Given the description of an element on the screen output the (x, y) to click on. 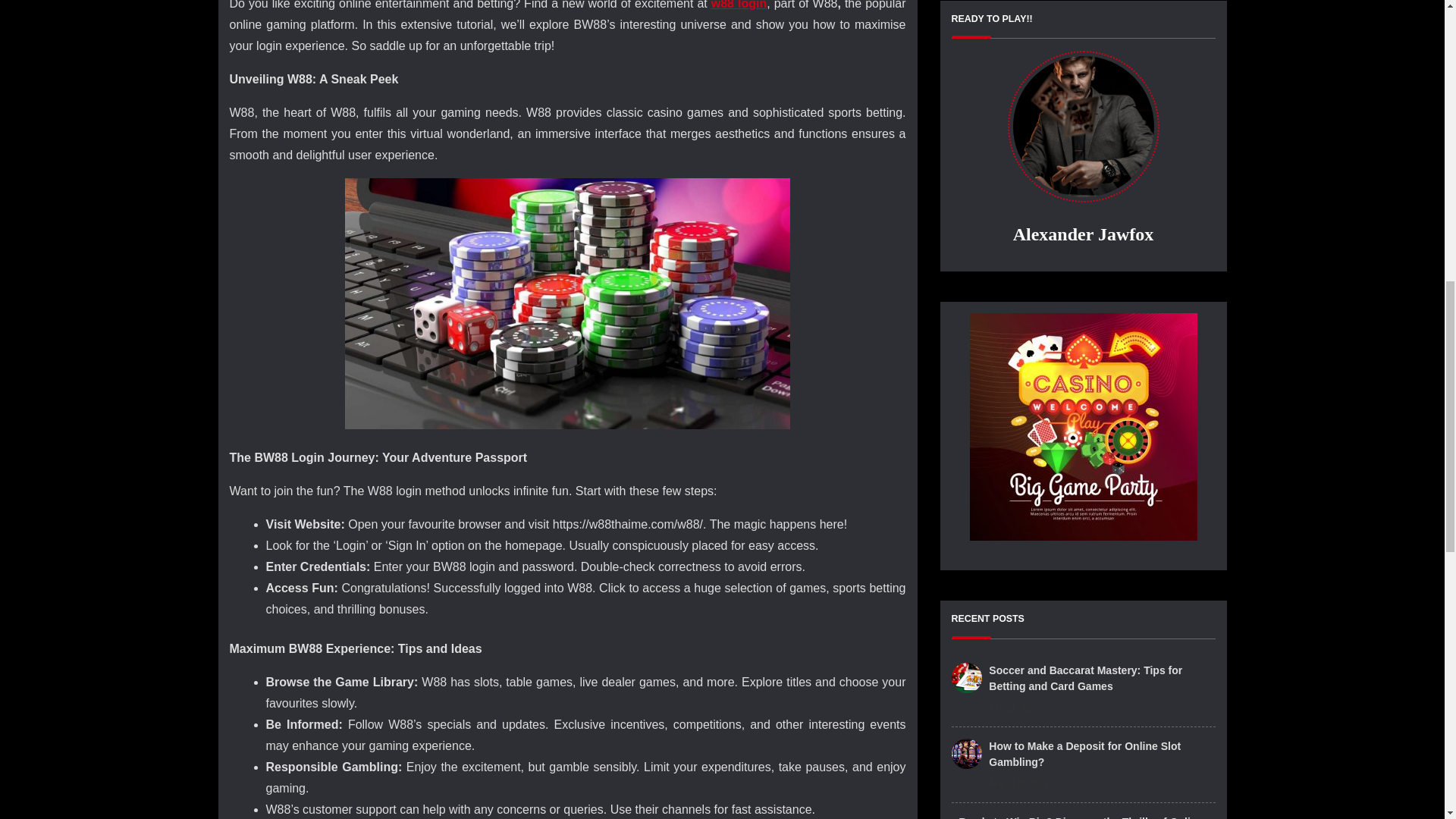
w88 login (739, 4)
How to Make a Deposit for Online Slot Gambling? (1101, 163)
Soccer and Baccarat Mastery: Tips for Betting and Card Games (1101, 87)
